Given the description of an element on the screen output the (x, y) to click on. 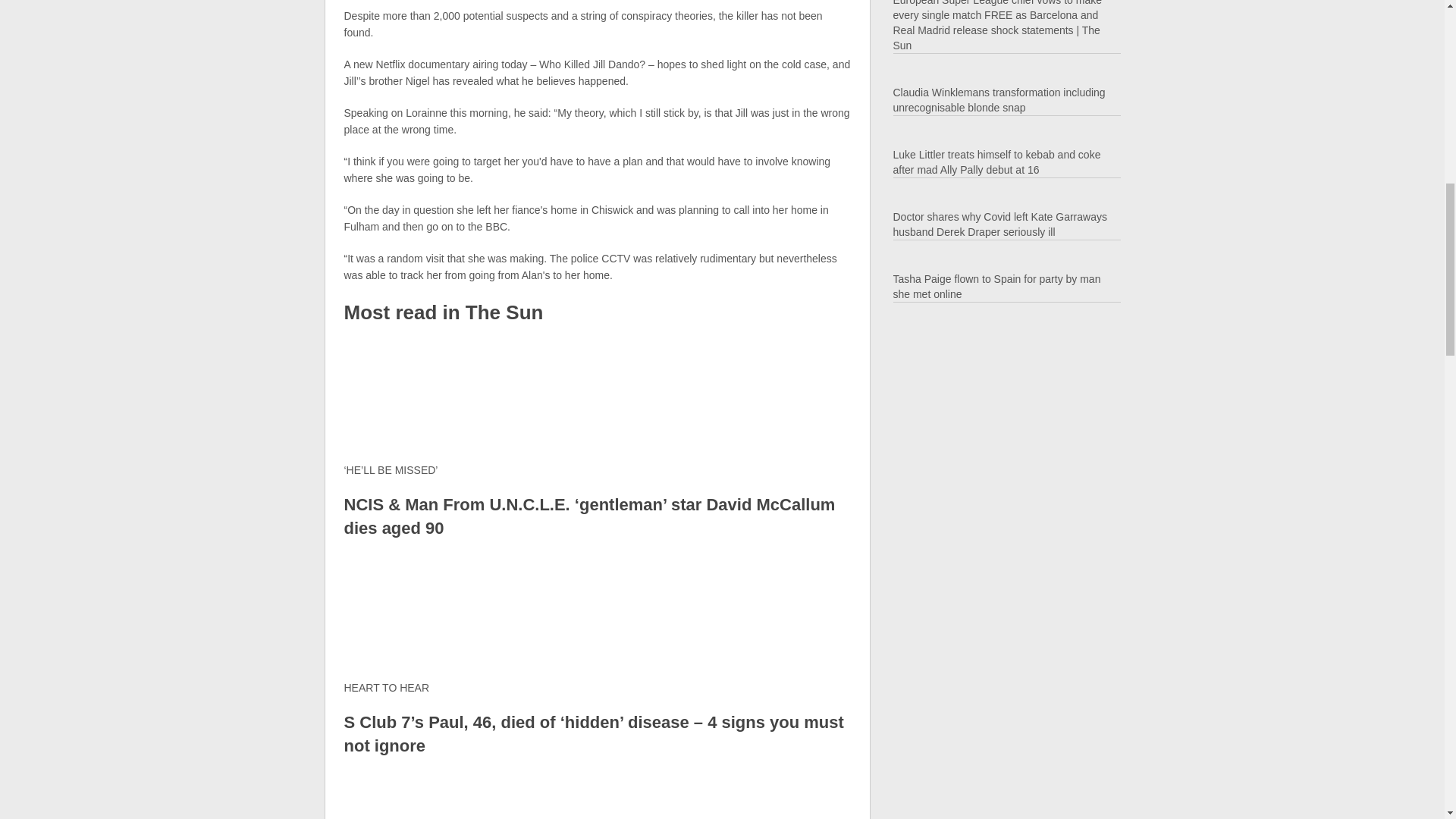
Tasha Paige flown to Spain for party by man she met online (996, 286)
